Given the description of an element on the screen output the (x, y) to click on. 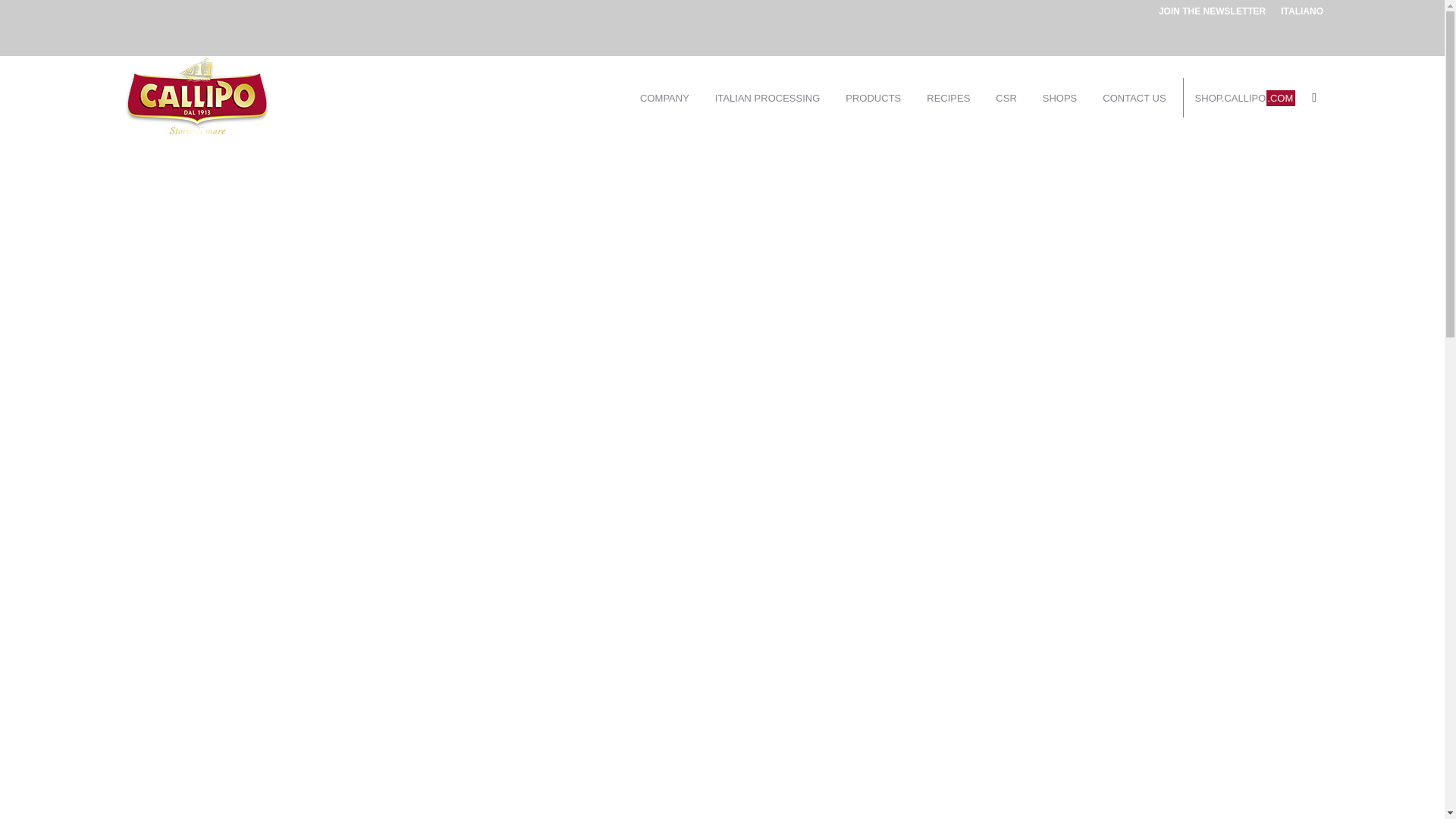
CSR (1006, 97)
SHOP.CALLIPO.COM (1243, 97)
SHOPS (1059, 97)
ITALIANO (1302, 11)
ITALIAN PROCESSING (767, 97)
RECIPES (947, 97)
CONTACT US (1133, 97)
COMPANY (664, 97)
PRODUCTS (872, 97)
JOIN THE NEWSLETTER (1211, 10)
